Given the description of an element on the screen output the (x, y) to click on. 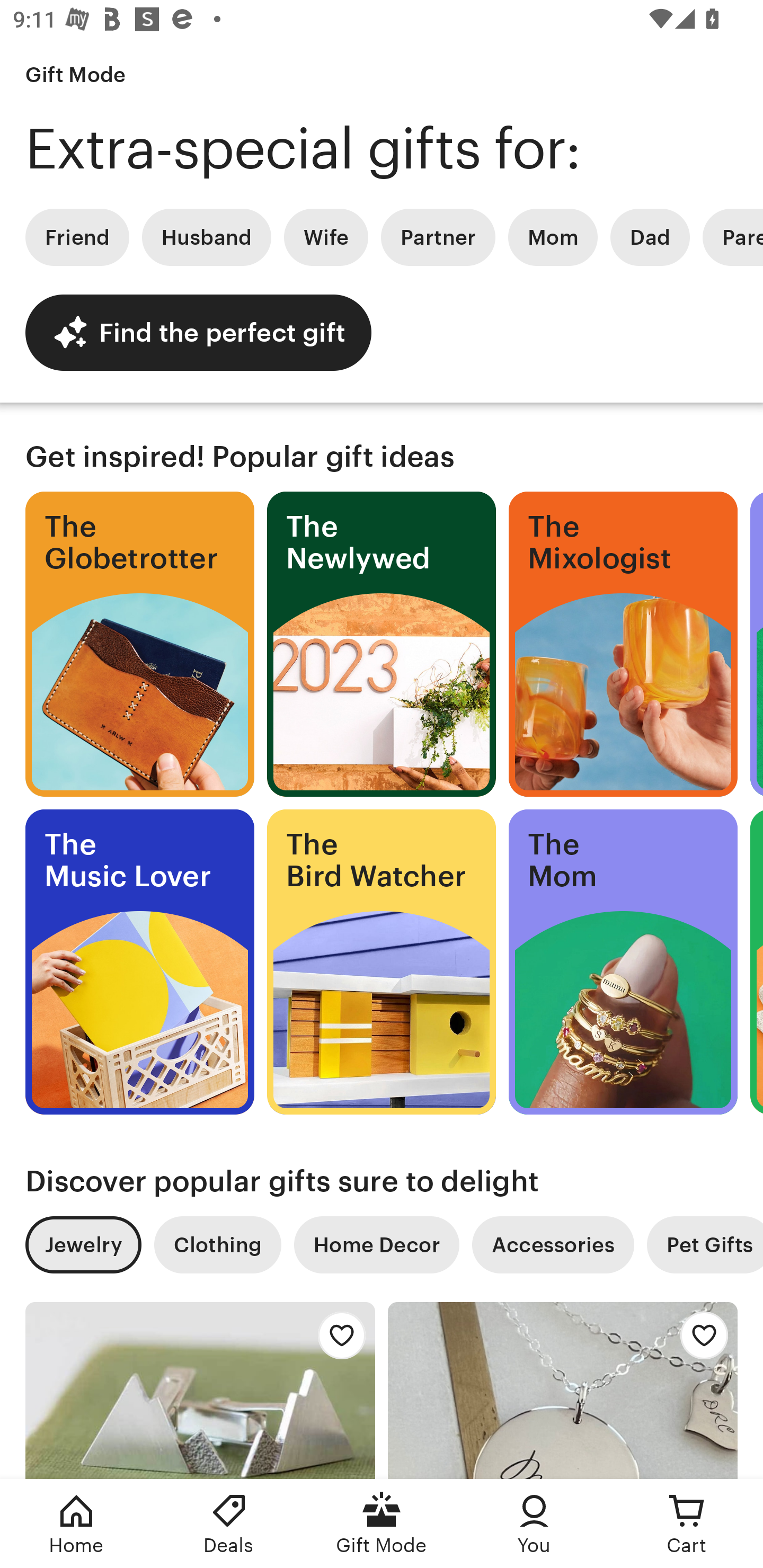
Friend (76, 237)
Husband (206, 237)
Wife (325, 237)
Partner (437, 237)
Mom (552, 237)
Dad (649, 237)
Find the perfect gift (198, 332)
The Globetrotter (139, 644)
The Newlywed (381, 644)
The Mixologist (622, 644)
The Music Lover (139, 961)
The Bird Watcher (381, 961)
The Mom (622, 961)
Jewelry (83, 1244)
Clothing (217, 1244)
Home Decor (376, 1244)
Accessories (553, 1244)
Pet Gifts (705, 1244)
Home (76, 1523)
Deals (228, 1523)
You (533, 1523)
Cart (686, 1523)
